Given the description of an element on the screen output the (x, y) to click on. 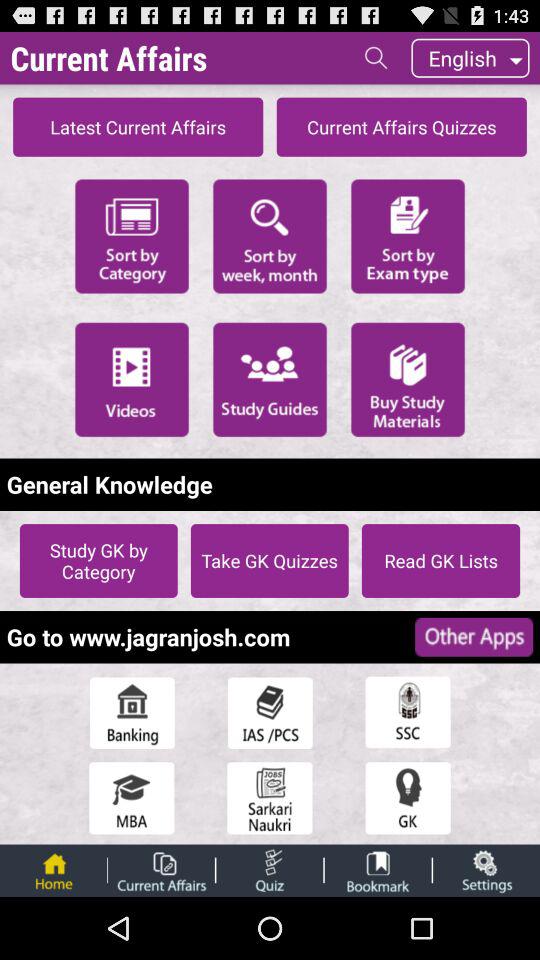
initiate study guides (269, 379)
